Given the description of an element on the screen output the (x, y) to click on. 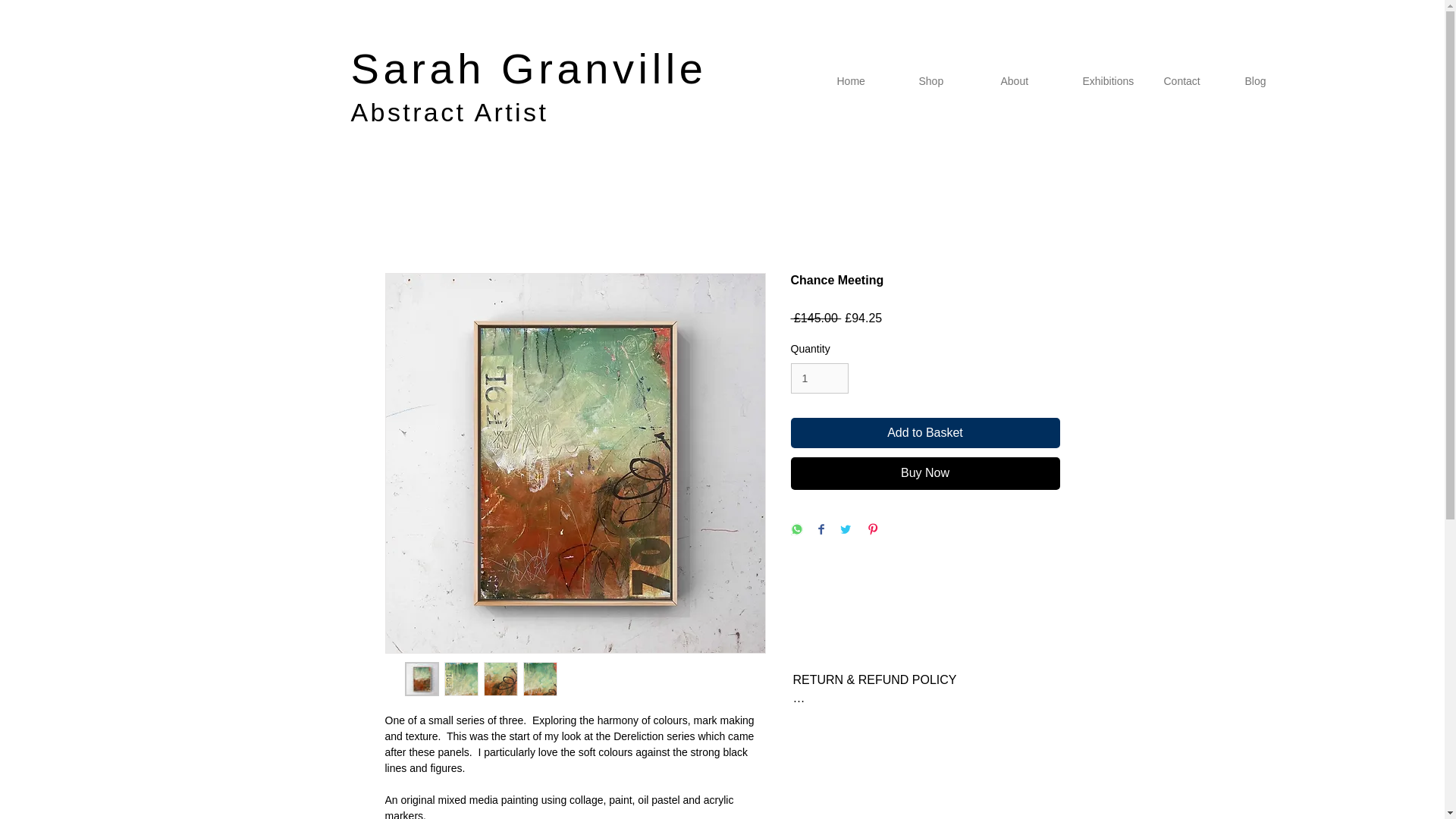
Contact (1193, 80)
Buy Now (924, 472)
Home (866, 80)
Shop (947, 80)
Blog (1273, 80)
Exhibitions (1110, 80)
About (1029, 80)
Add to Basket (924, 432)
1 (818, 378)
